Given the description of an element on the screen output the (x, y) to click on. 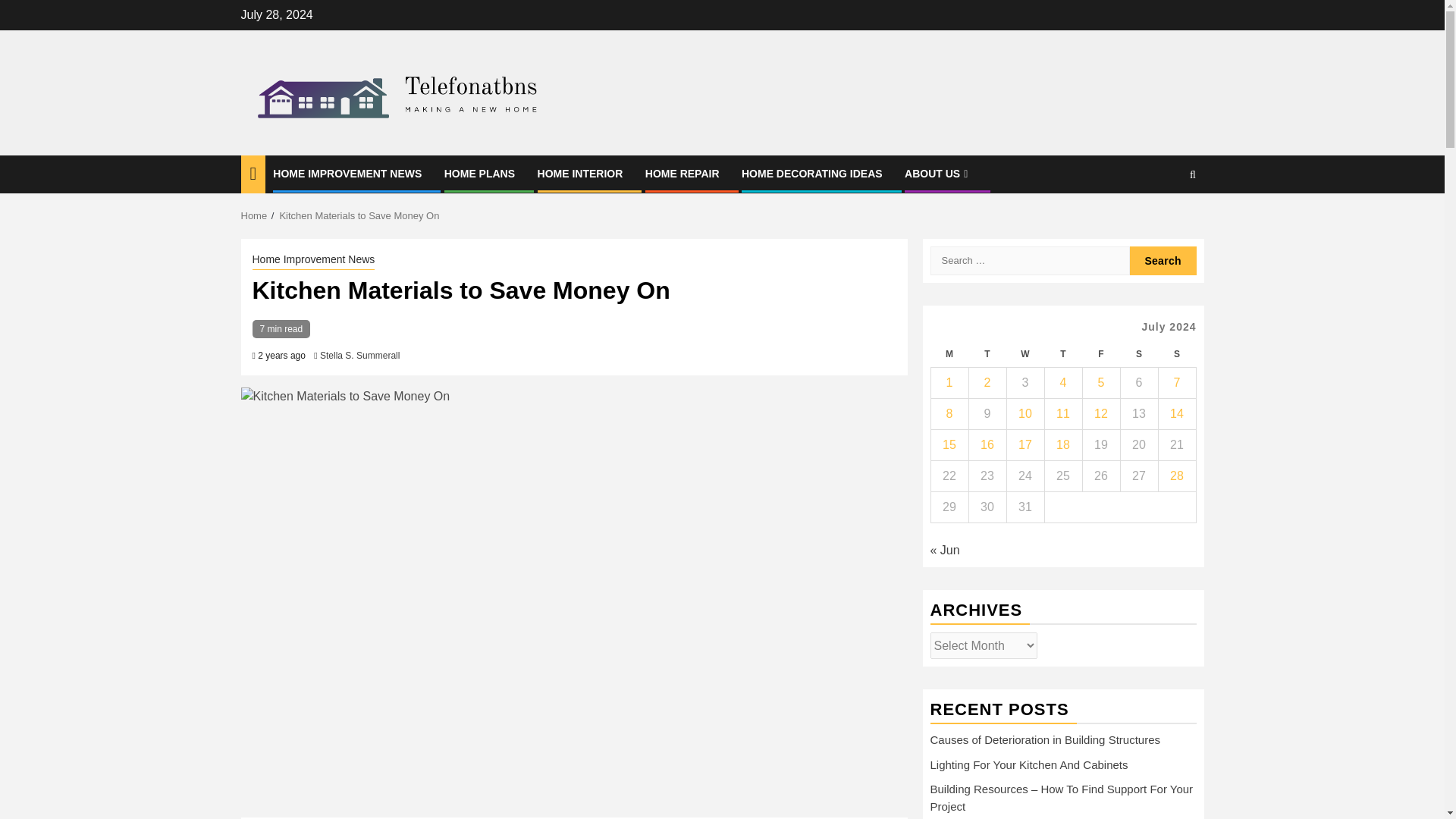
Search (1163, 221)
Search (1162, 260)
HOME DECORATING IDEAS (811, 173)
Search (1192, 174)
HOME IMPROVEMENT NEWS (347, 173)
Kitchen Materials to Save Money On (359, 215)
HOME INTERIOR (580, 173)
Search (1162, 260)
Home Improvement News (312, 260)
Stella S. Summerall (359, 355)
Home (254, 215)
HOME PLANS (479, 173)
HOME REPAIR (682, 173)
ABOUT US (937, 173)
